Given the description of an element on the screen output the (x, y) to click on. 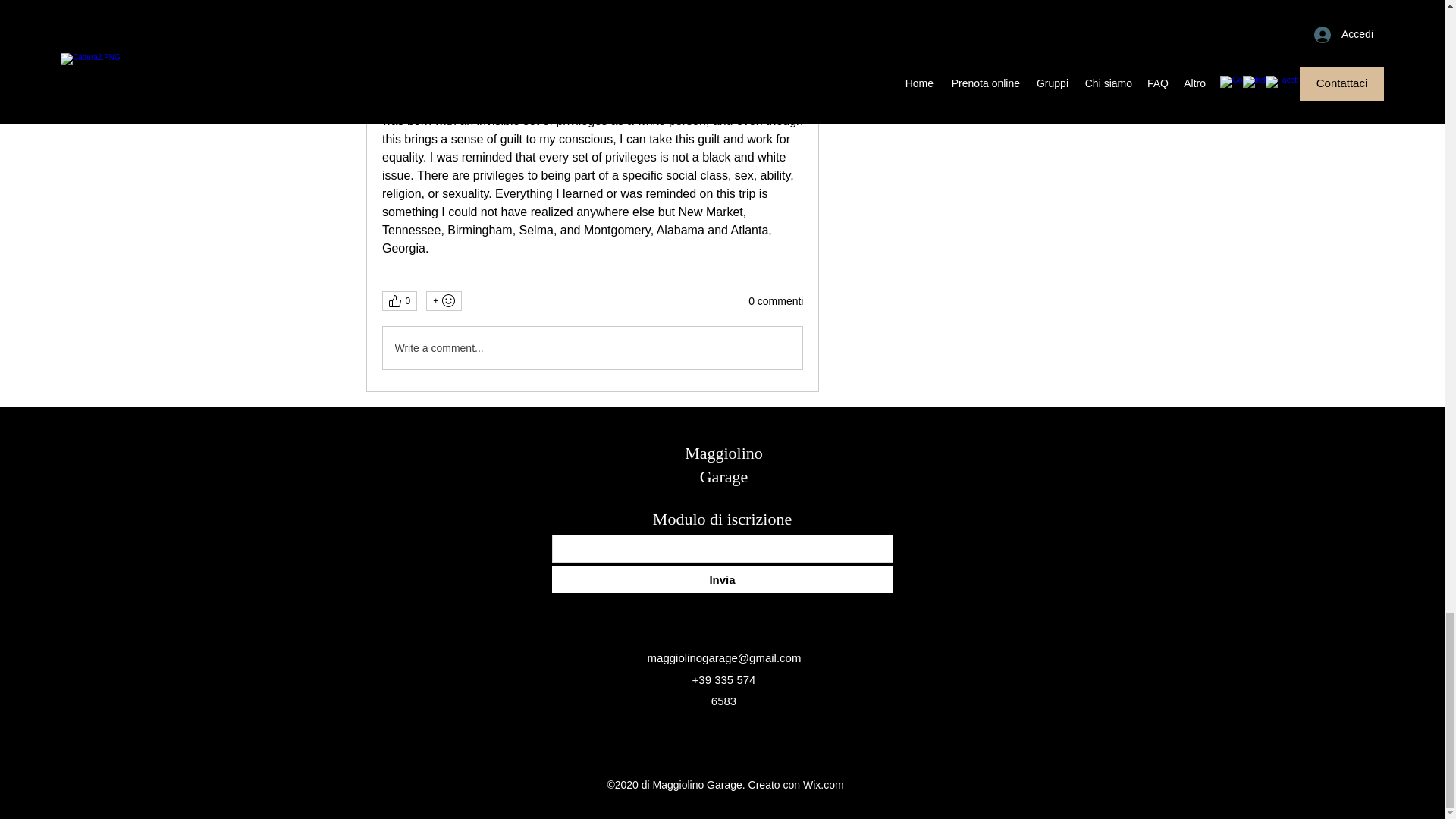
0 commenti (775, 301)
Write a comment... (591, 347)
